Given the description of an element on the screen output the (x, y) to click on. 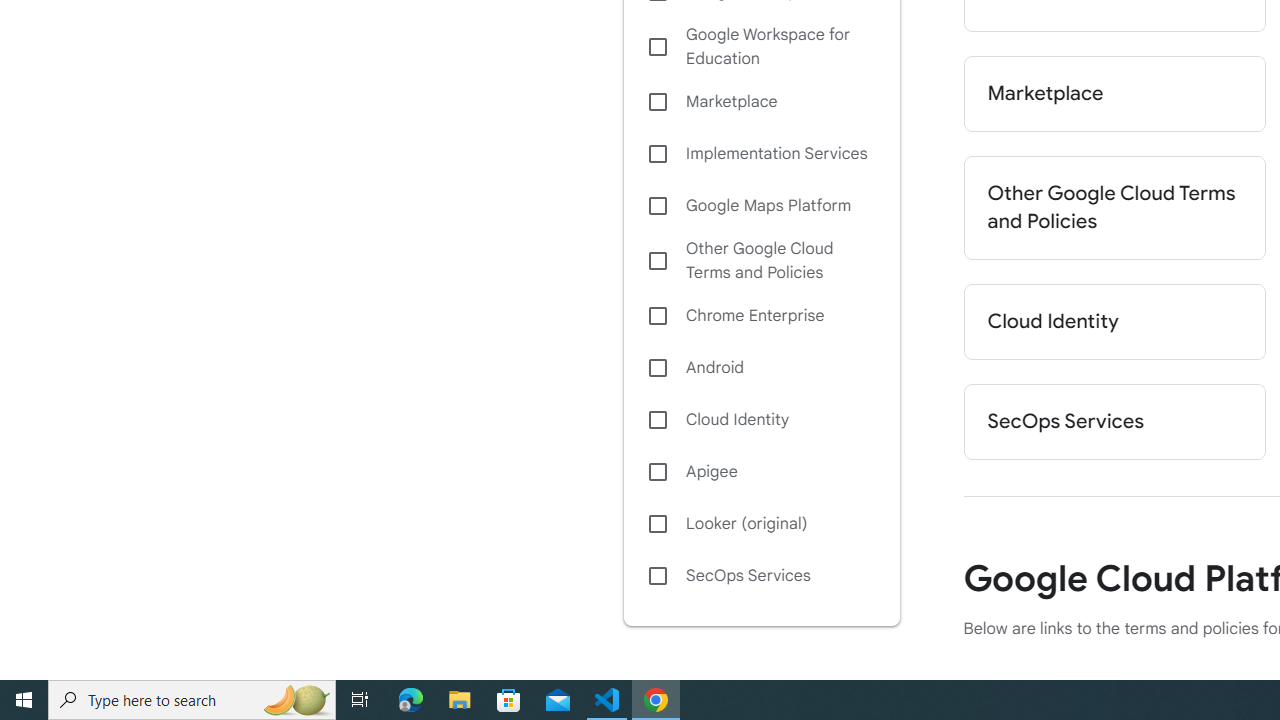
SecOps Services (761, 575)
Cloud Identity (761, 419)
Cloud Identity (1114, 321)
Google Workspace for Education (761, 47)
Marketplace (761, 102)
Other Google Cloud Terms and Policies (1114, 207)
Looker (original) (761, 524)
SecOps Services (1114, 421)
Apigee (761, 471)
Chrome Enterprise (761, 316)
Marketplace (1114, 93)
Other Google Cloud Terms and Policies (761, 260)
Implementation Services (761, 154)
Google Maps Platform (761, 205)
